Given the description of an element on the screen output the (x, y) to click on. 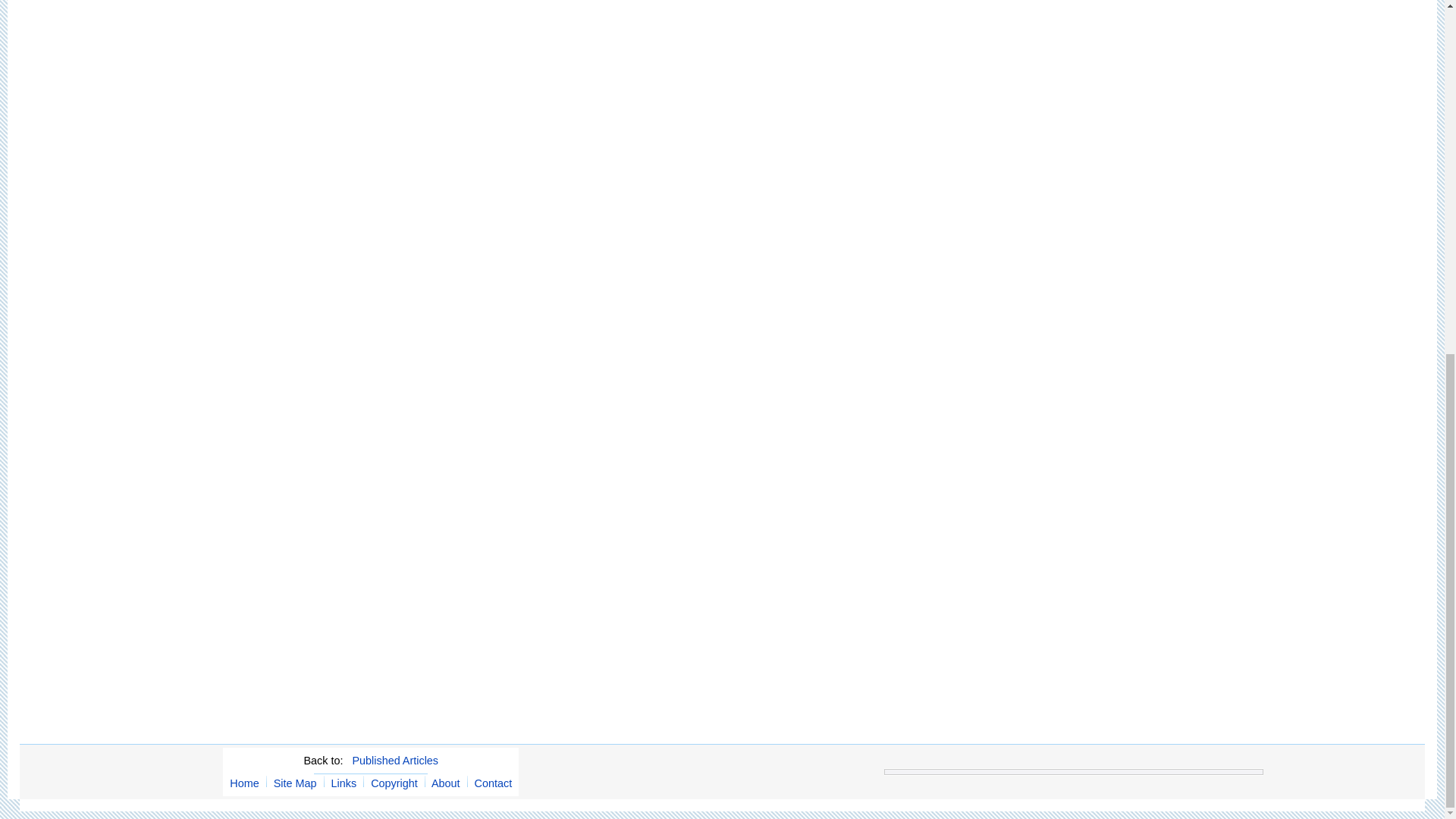
Contact (493, 783)
Published Articles (395, 760)
About (445, 783)
Copyright (394, 783)
Home (244, 783)
Site Map (295, 783)
Links (343, 783)
